Given the description of an element on the screen output the (x, y) to click on. 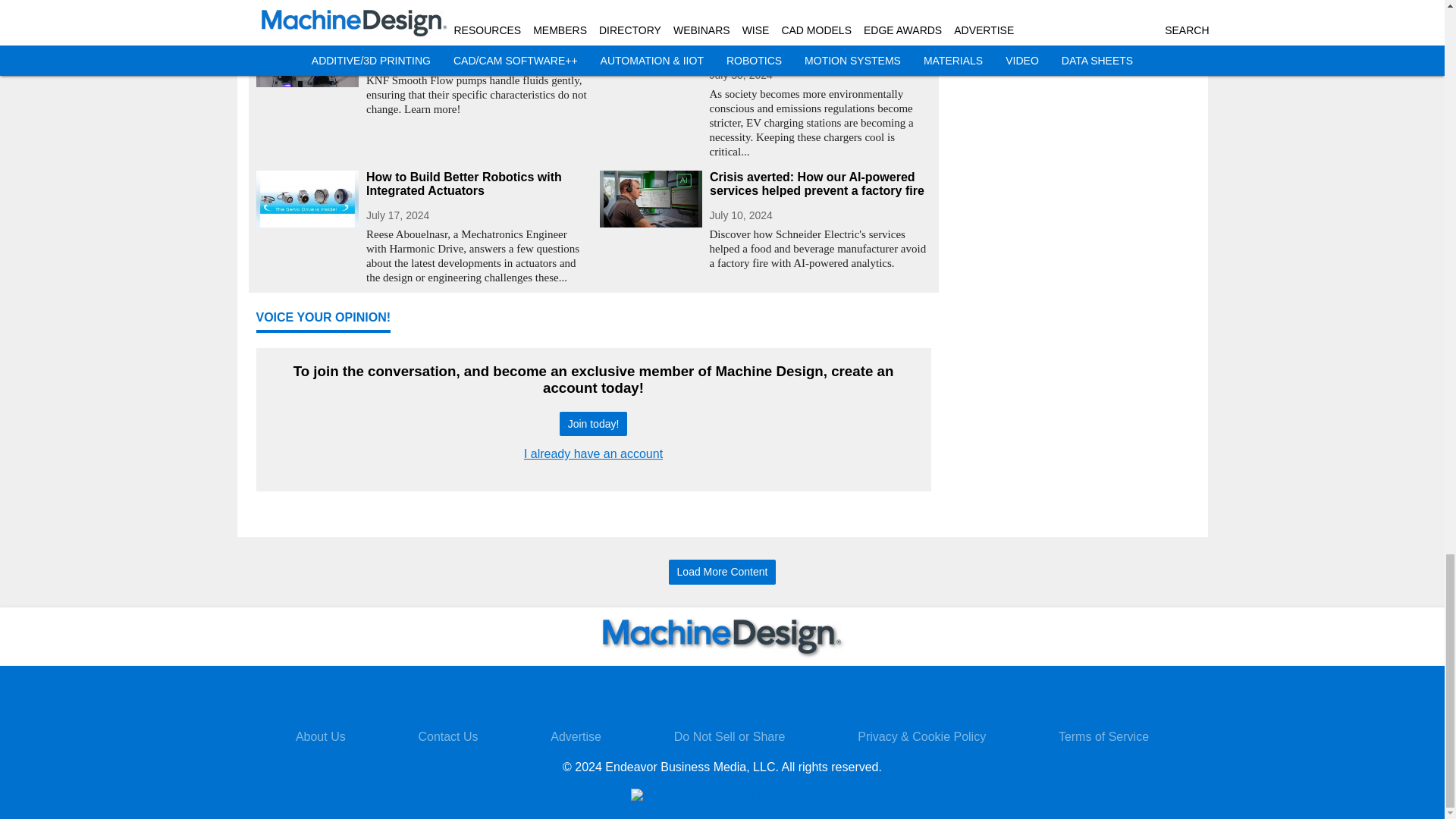
How to Build Better Robotics with Integrated Actuators (476, 184)
Smooth Flow Pumps at a Closer Look (476, 37)
Pump Technology Keeps EV Charging Stations Cool (820, 43)
Join today! (593, 423)
